Given the description of an element on the screen output the (x, y) to click on. 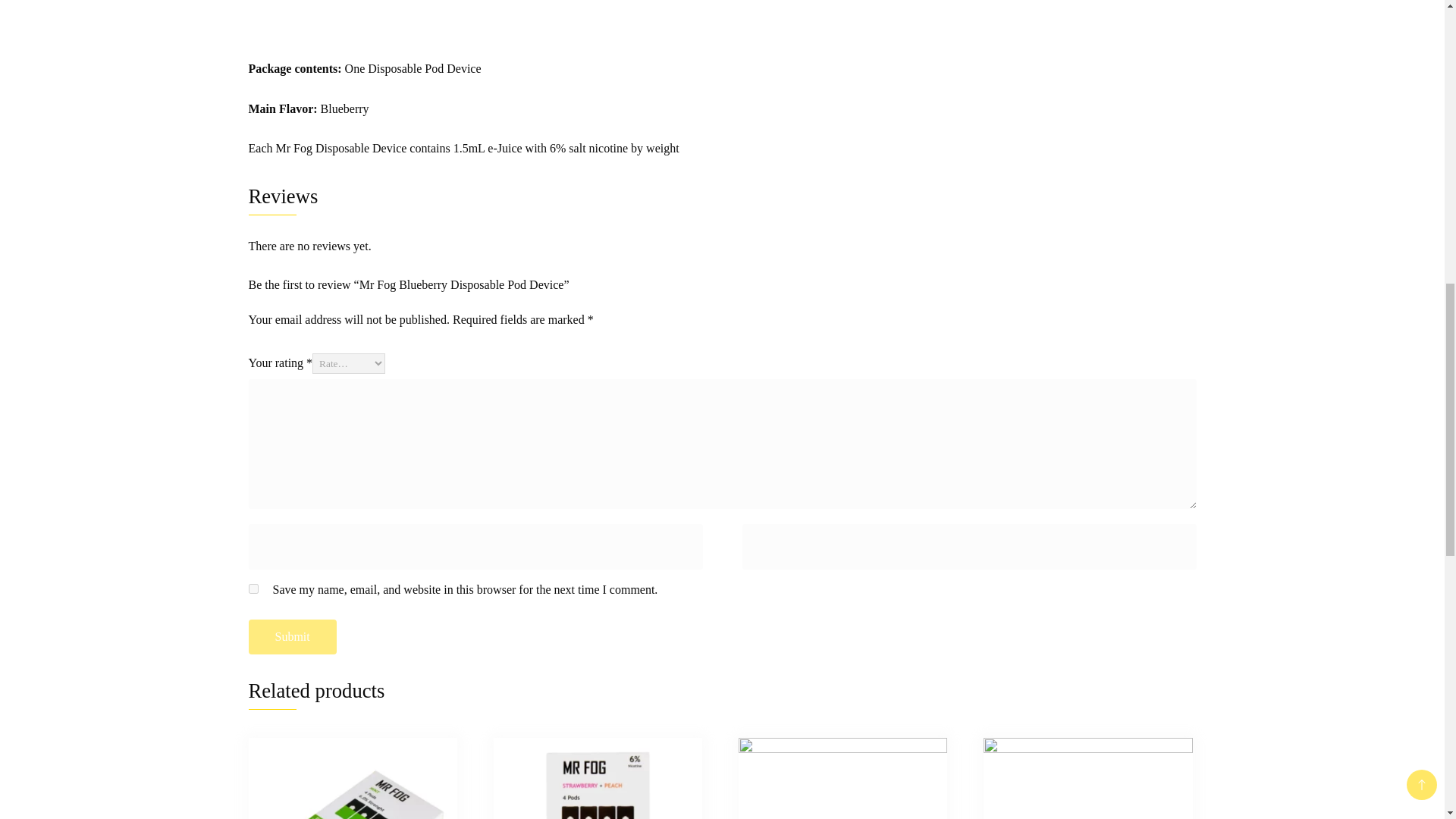
Submit (292, 636)
yes (253, 588)
